Given the description of an element on the screen output the (x, y) to click on. 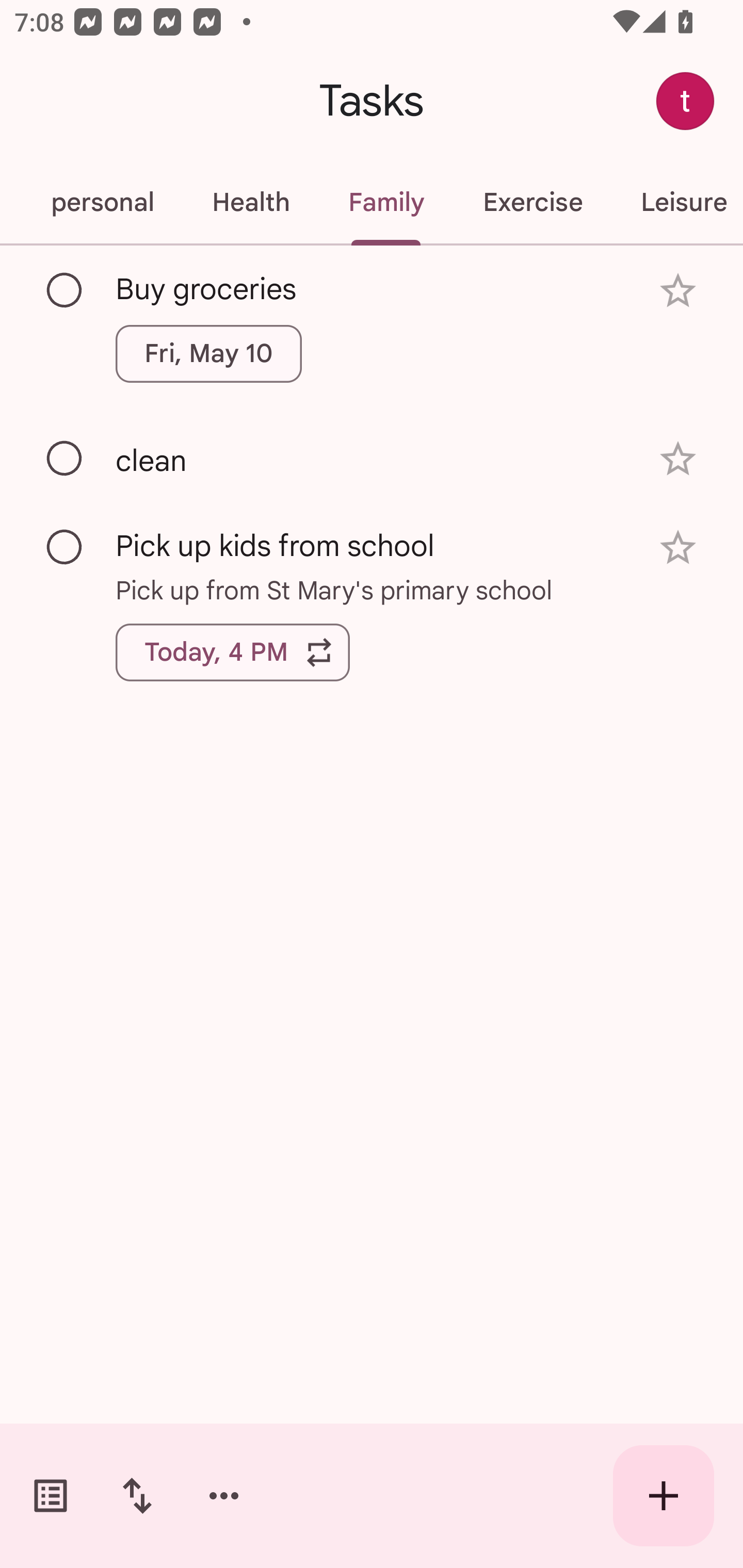
personal (101, 202)
Health (250, 202)
Exercise (532, 202)
Leisure (677, 202)
Add star (677, 290)
Mark as complete (64, 290)
Fri, May 10 (208, 353)
clean clean Add star Mark as complete (371, 457)
Add star (677, 458)
Mark as complete (64, 459)
Add star (677, 547)
Mark as complete (64, 547)
Pick up from St Mary's primary school (371, 589)
Today, 4 PM (232, 652)
Switch task lists (50, 1495)
Create new task (663, 1495)
Change sort order (136, 1495)
More options (223, 1495)
